Given the description of an element on the screen output the (x, y) to click on. 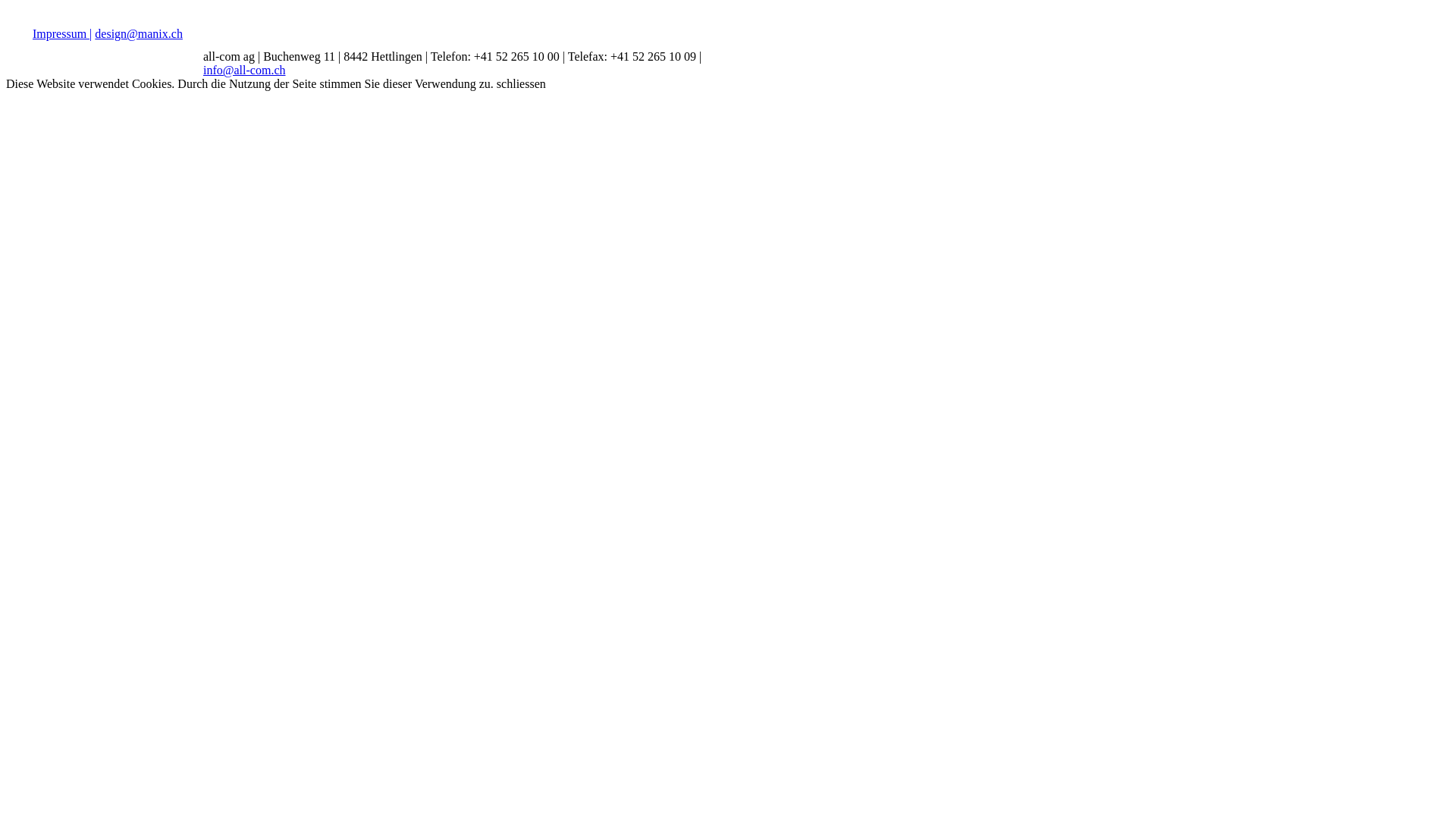
info@all-com.ch Element type: text (244, 69)
Impressum | Element type: text (61, 33)
design@manix.ch Element type: text (138, 33)
